Given the description of an element on the screen output the (x, y) to click on. 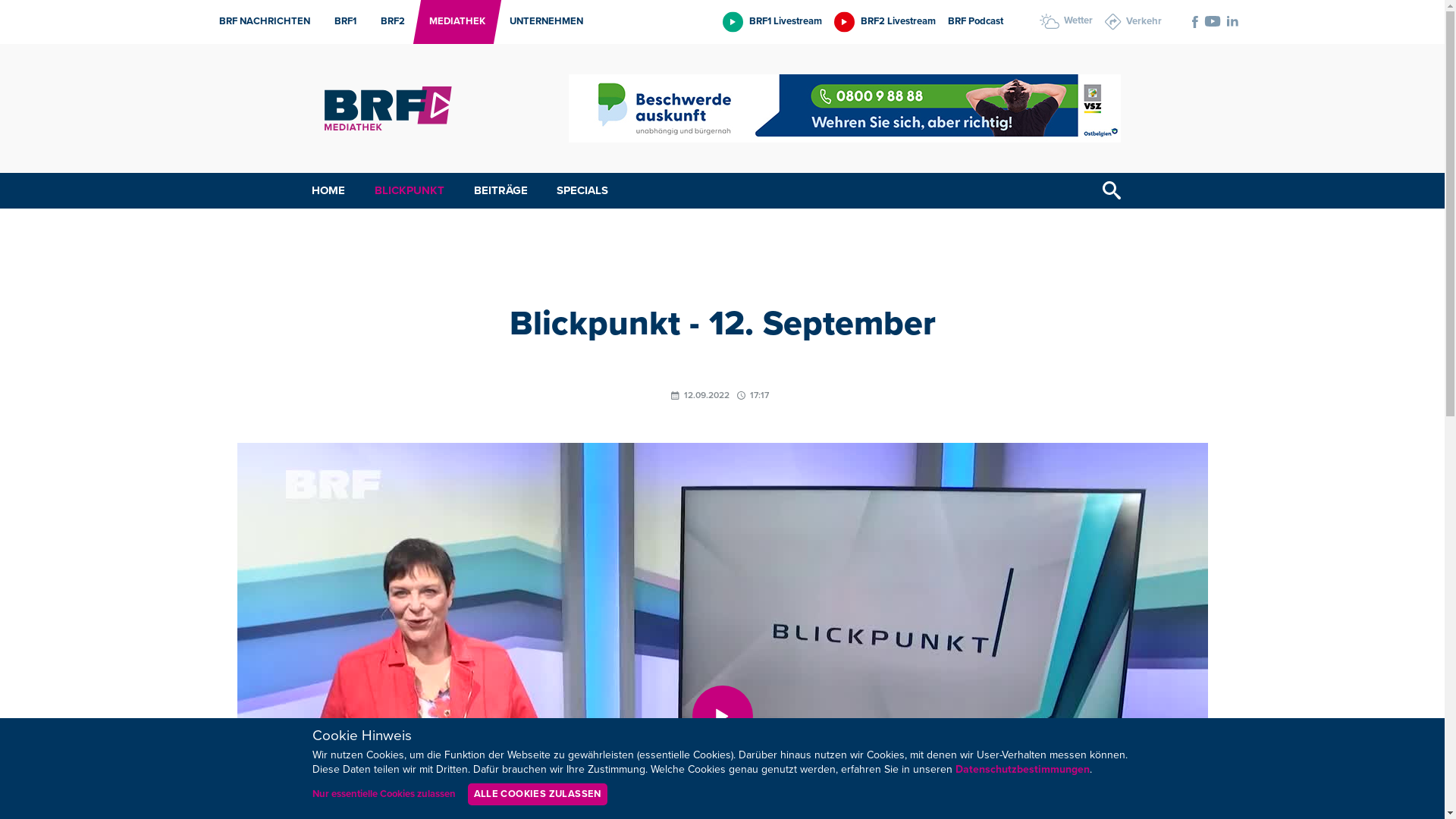
SPECIALS Element type: text (582, 190)
BLICKPUNKT Element type: text (409, 190)
UNTERNEHMEN Element type: text (541, 21)
MEDIATHEK Element type: text (452, 21)
Wetter Element type: text (1065, 20)
BRF1 Livestream Element type: text (771, 21)
Nach oben Element type: text (1427, 777)
ALLE COOKIES ZULASSEN Element type: text (536, 794)
HOME Element type: text (328, 190)
Suchen Element type: hover (1111, 190)
BRF2 Livestream Element type: text (884, 21)
Verkehr Element type: text (1132, 21)
BRF Podcast Element type: text (975, 21)
Nur essentielle Cookies zulassen Element type: text (383, 794)
Datenschutzbestimmungen Element type: text (1022, 769)
BRF2 Element type: text (388, 21)
BRF NACHRICHTEN Element type: text (259, 21)
BRF1 Element type: text (340, 21)
